Given the description of an element on the screen output the (x, y) to click on. 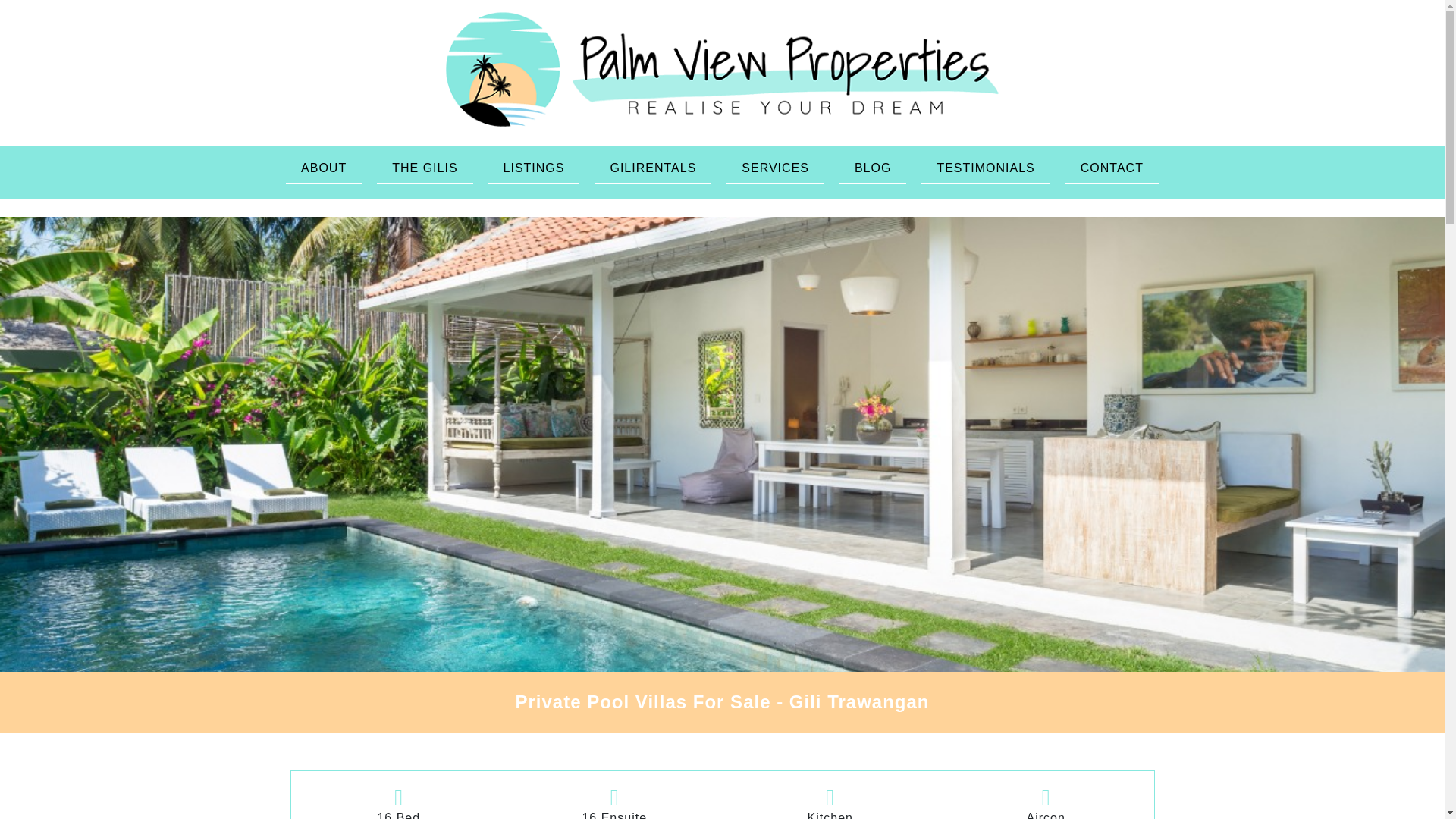
GILIRENTALS (652, 168)
SERVICES (775, 168)
TESTIMONIALS (985, 168)
LISTINGS (533, 168)
CONTACT (1111, 168)
Palm View Properties Logo (722, 69)
ABOUT (323, 168)
BLOG (872, 168)
THE GILIS (424, 168)
